Given the description of an element on the screen output the (x, y) to click on. 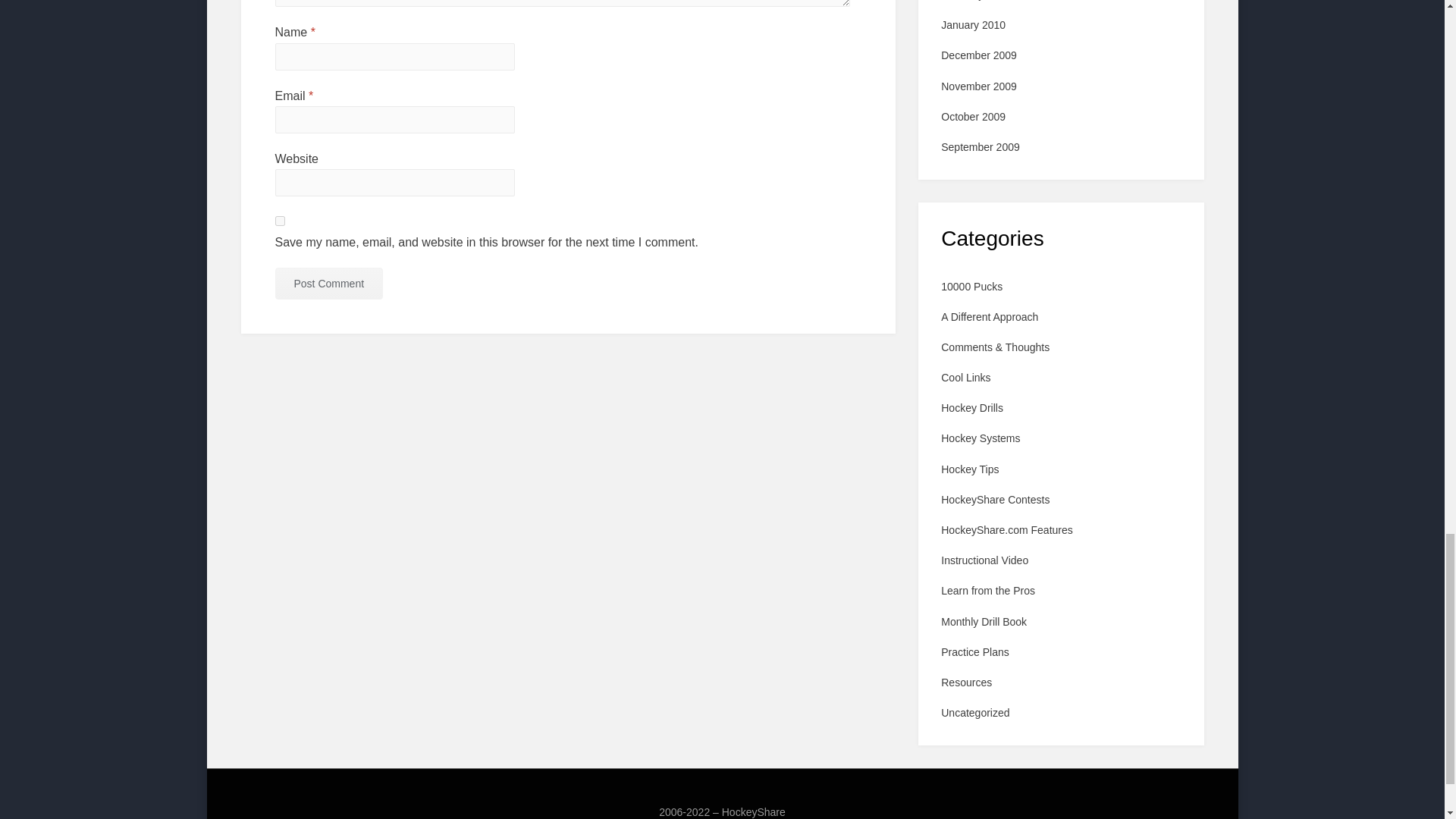
Post Comment (328, 283)
Post Comment (328, 283)
yes (279, 221)
